Given the description of an element on the screen output the (x, y) to click on. 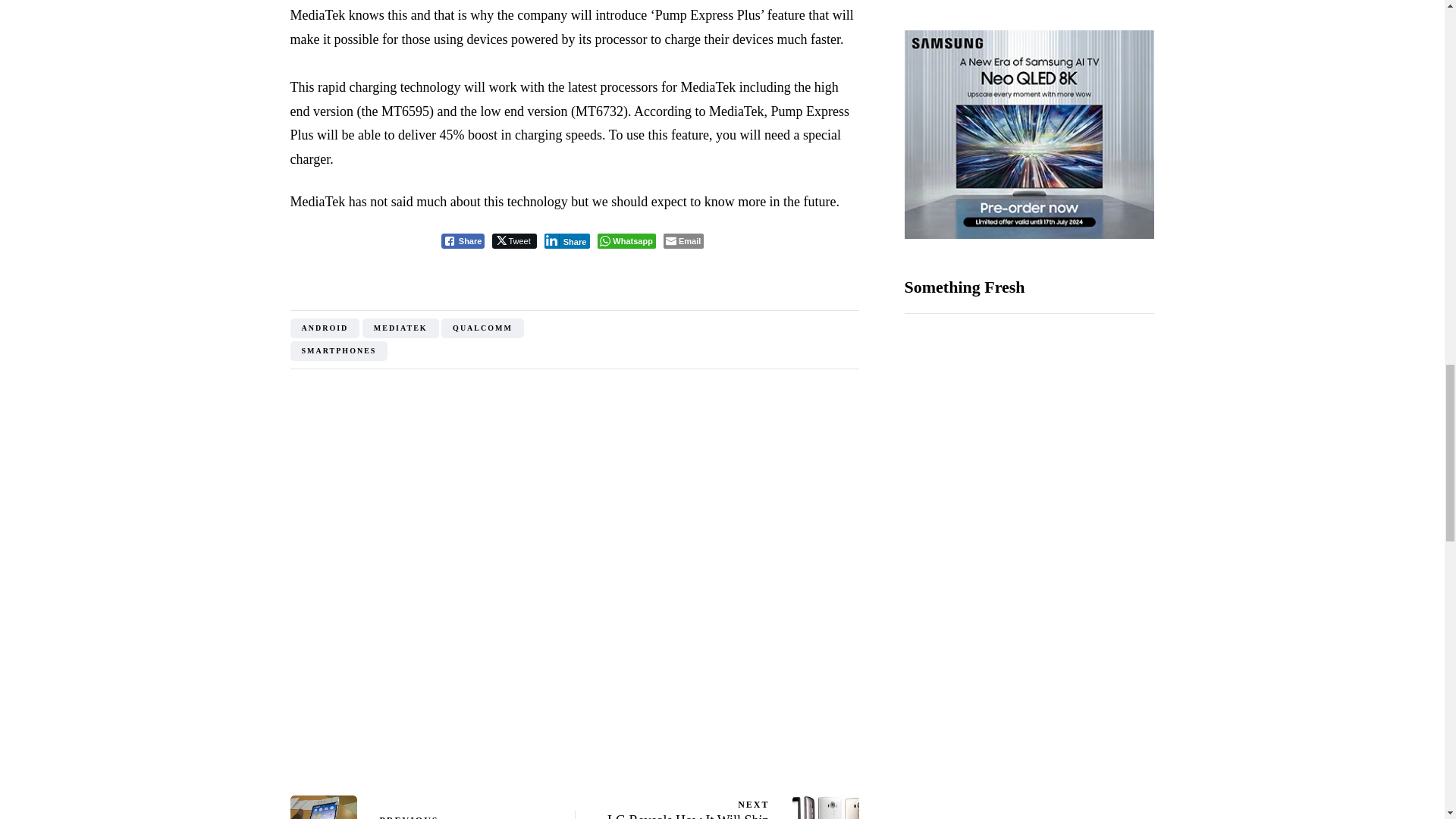
MEDIATEK (400, 328)
ANDROID (324, 328)
Share (462, 240)
Share (567, 240)
QUALCOMM (482, 328)
SMARTPHONES (338, 351)
Email (683, 240)
Whatsapp (626, 240)
Tweet (513, 240)
